Given the description of an element on the screen output the (x, y) to click on. 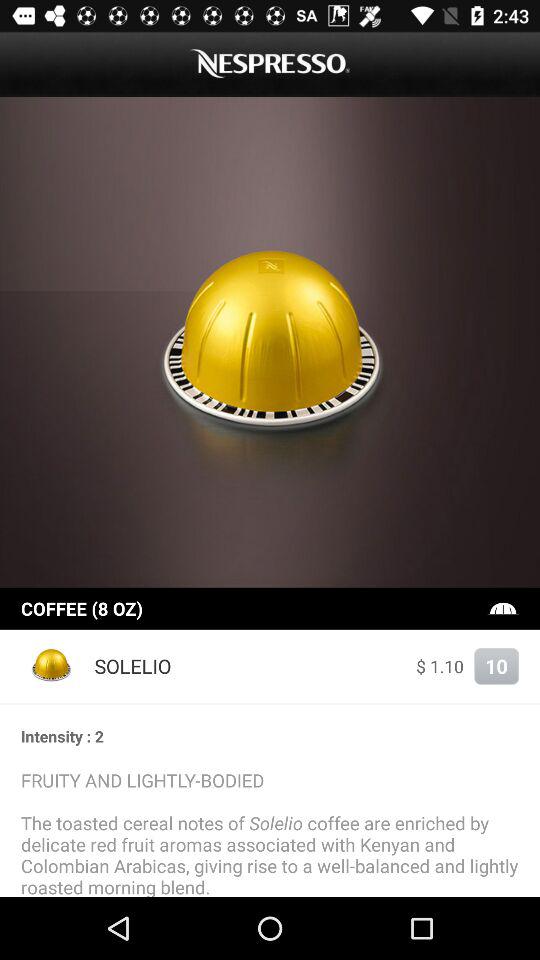
select coffee (8 oz) (251, 608)
